Given the description of an element on the screen output the (x, y) to click on. 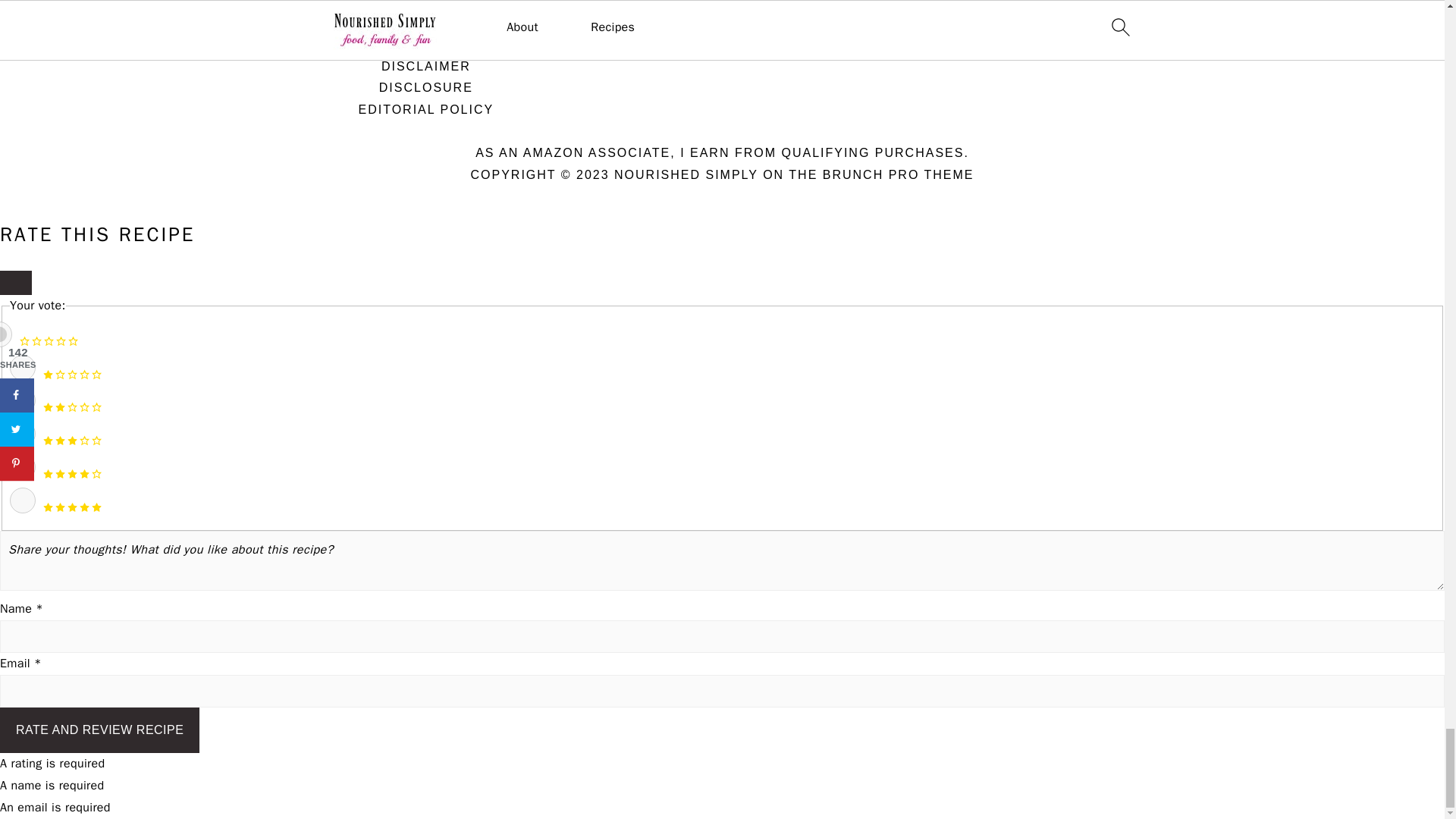
5 (22, 500)
3 (22, 433)
1 (22, 367)
4 (22, 466)
2 (22, 400)
